Given the description of an element on the screen output the (x, y) to click on. 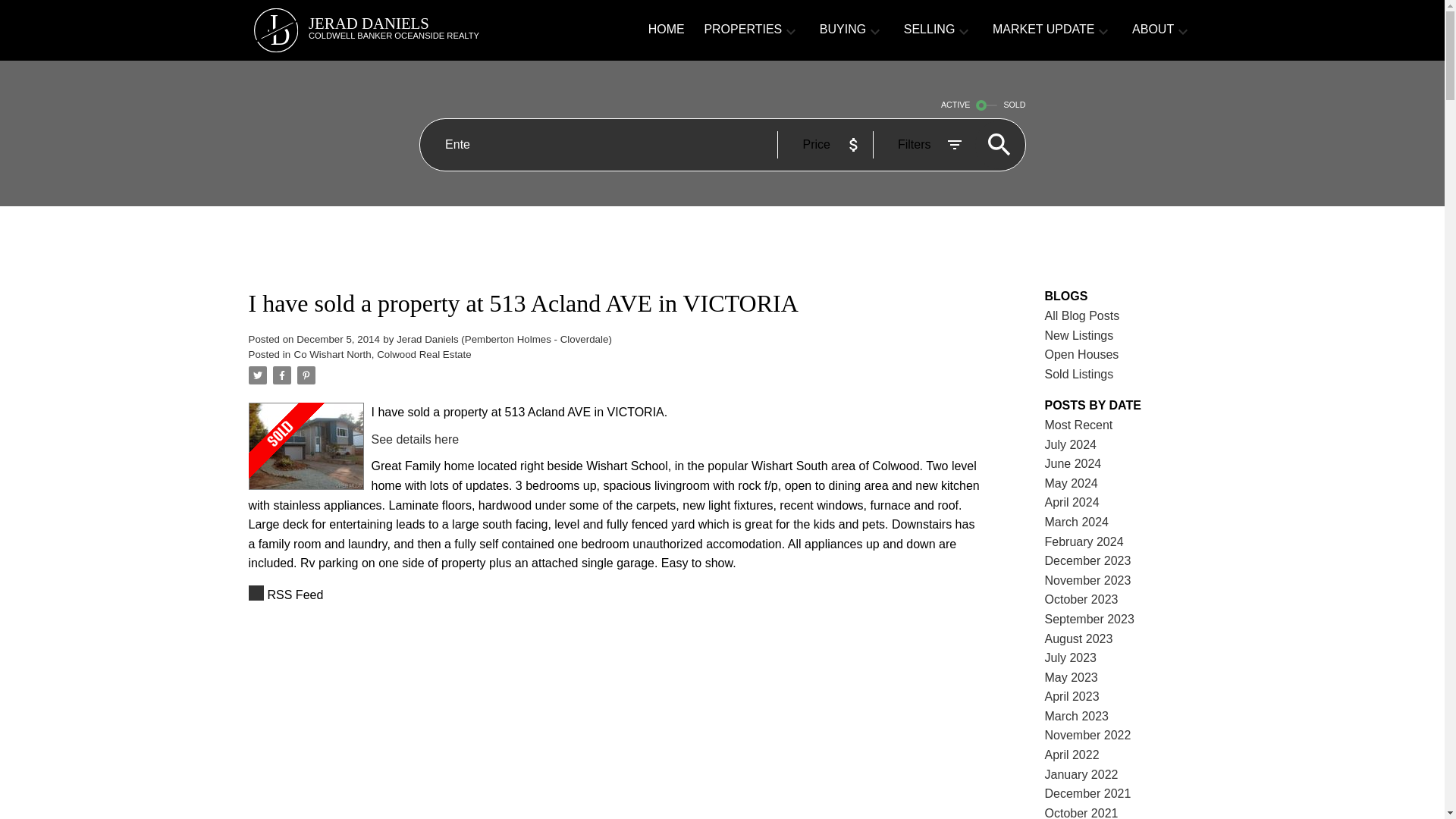
May 2024 (1071, 482)
Most Recent (1079, 424)
June 2024 (1073, 463)
RSS (616, 595)
March 2024 (1077, 521)
BUYING (842, 30)
New Listings (1079, 335)
All Blog Posts (1082, 315)
ABOUT (1152, 30)
Co Wishart North, Colwood Real Estate (382, 354)
HOME (665, 30)
Sold Listings (1079, 373)
See details here (406, 30)
PROPERTIES (415, 439)
